Given the description of an element on the screen output the (x, y) to click on. 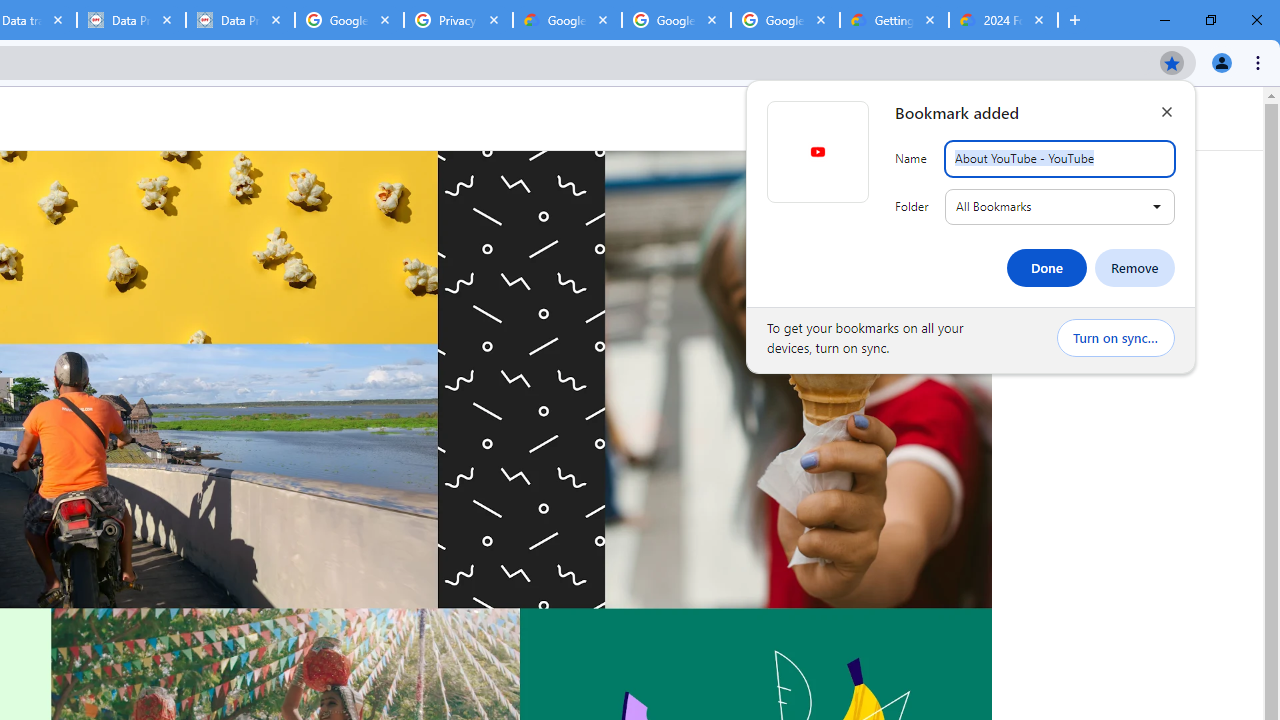
Folder (1059, 206)
Google Workspace - Specific Terms (784, 20)
